Given the description of an element on the screen output the (x, y) to click on. 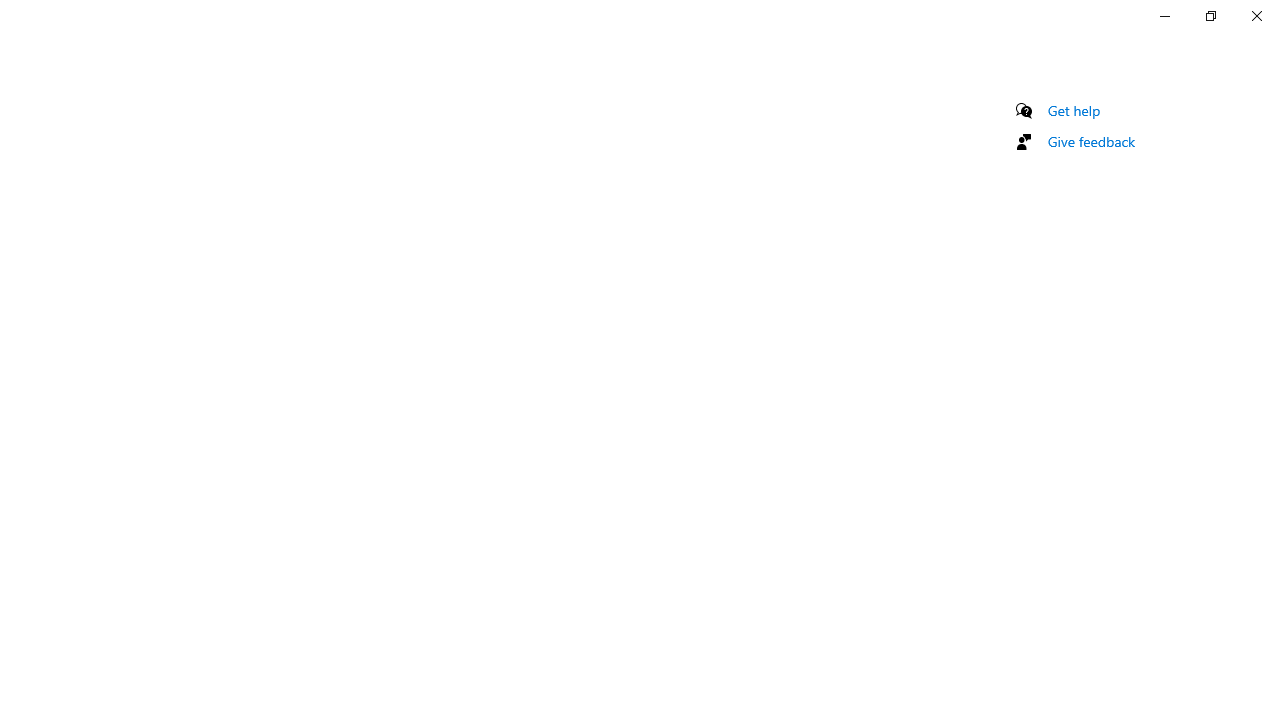
Close Settings (1256, 15)
Restore Settings (1210, 15)
Get help (1074, 110)
Minimize Settings (1164, 15)
Give feedback (1091, 141)
